Given the description of an element on the screen output the (x, y) to click on. 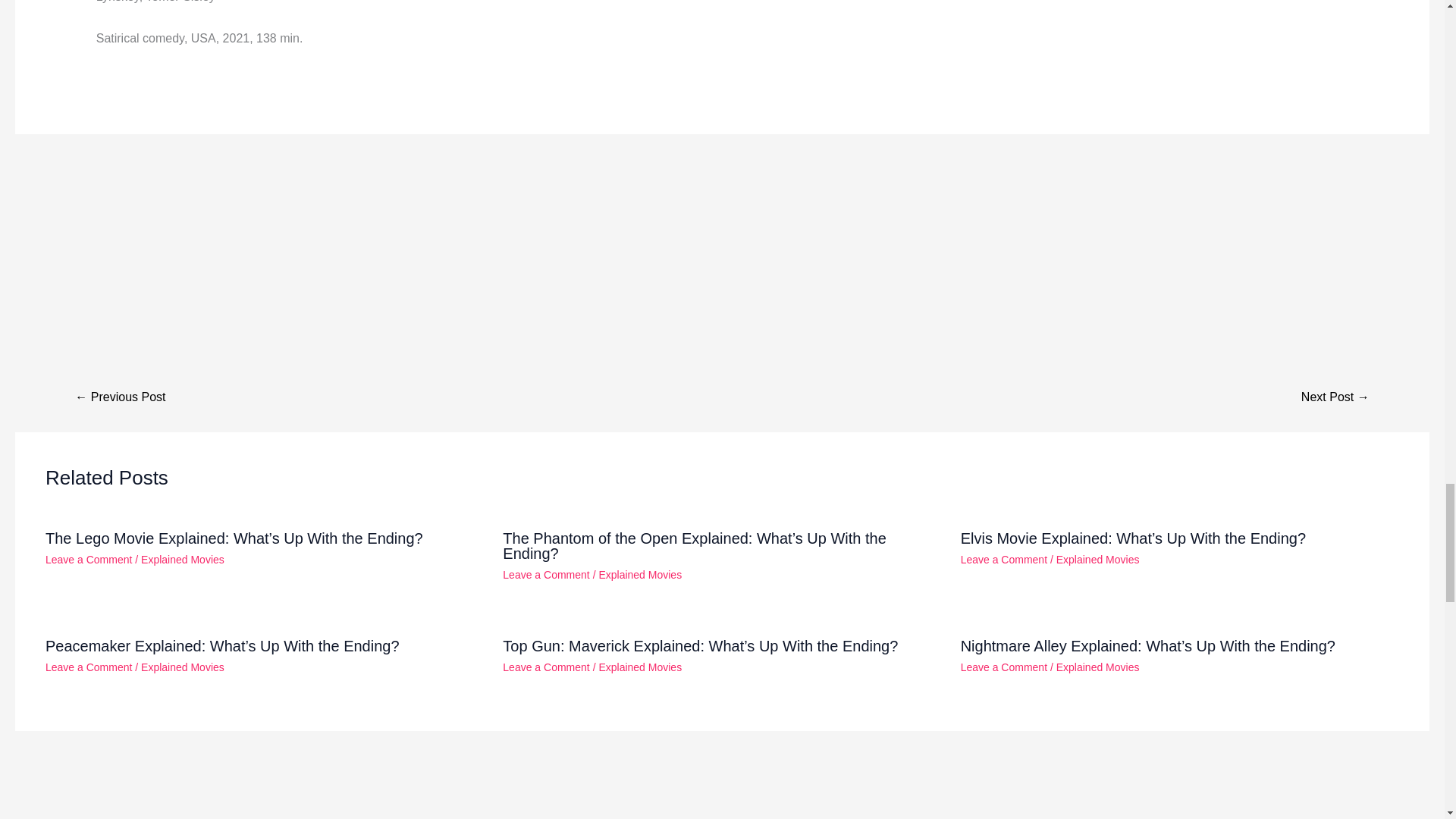
Leave a Comment (545, 574)
Leave a Comment (88, 559)
Explained Movies (182, 559)
Leave a Comment (1003, 559)
Explained Movies (1098, 559)
Explained Movies (1098, 666)
Polar Movie Explained: What's Up With the Ending? (1334, 397)
Leave a Comment (88, 666)
Explained Movies (639, 666)
Explained Movies (182, 666)
Leave a Comment (1003, 666)
Leave a Comment (545, 666)
Explained Movies (639, 574)
The French Dispatch Explained: What's Up With the Ending? (119, 397)
